Given the description of an element on the screen output the (x, y) to click on. 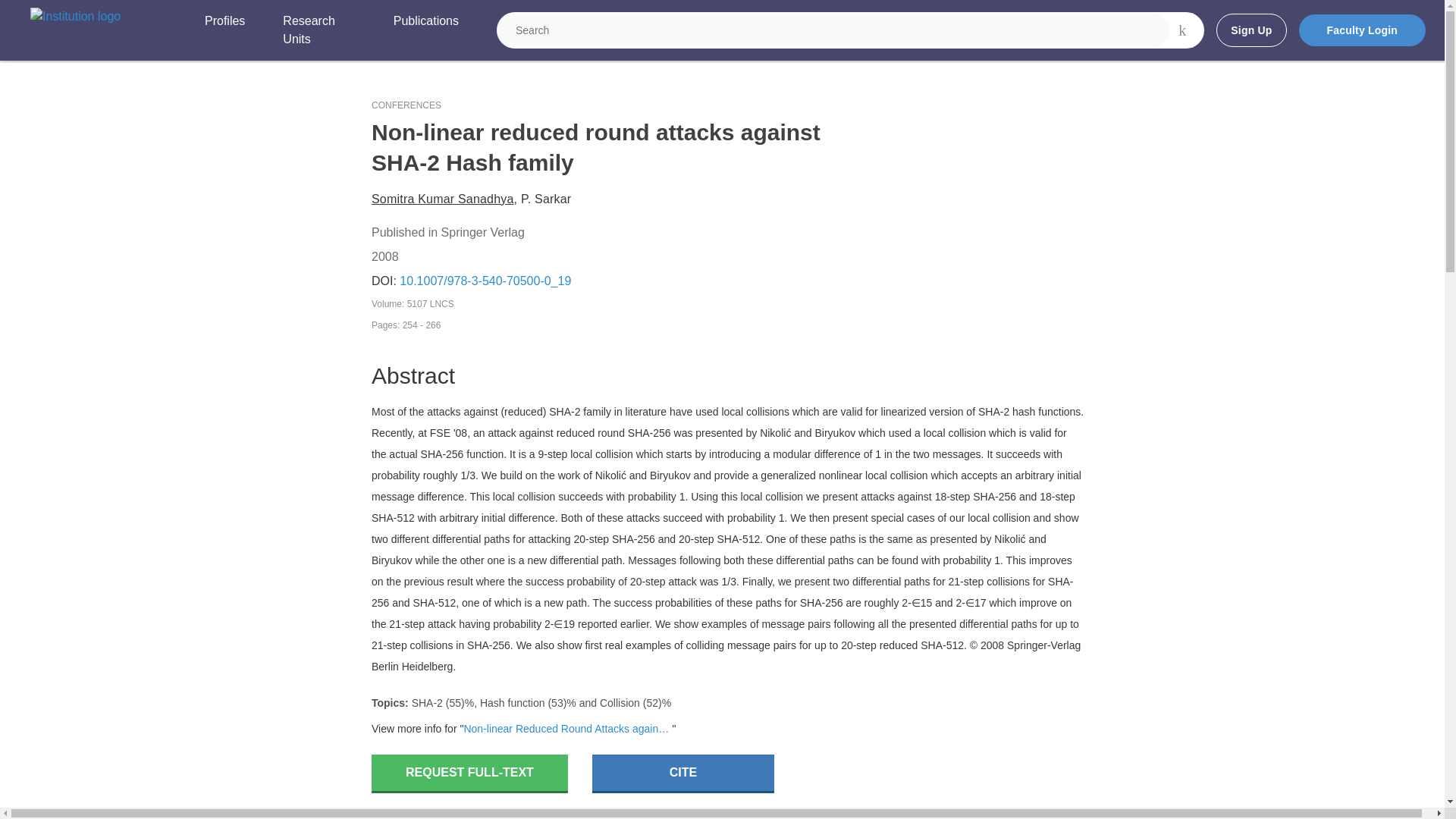
Publications (425, 30)
CITE (683, 773)
Sign Up (1250, 29)
REQUEST FULL-TEXT (469, 773)
Non-linear Reduced Round Attacks against SHA-2 Hash Family (567, 728)
Collision (619, 702)
Research Units (318, 30)
Somitra Kumar Sanadhya (442, 198)
SHA-2 (427, 702)
Profiles (224, 30)
Faculty Login (1361, 29)
Hash function (512, 702)
Institution logo (75, 16)
